Given the description of an element on the screen output the (x, y) to click on. 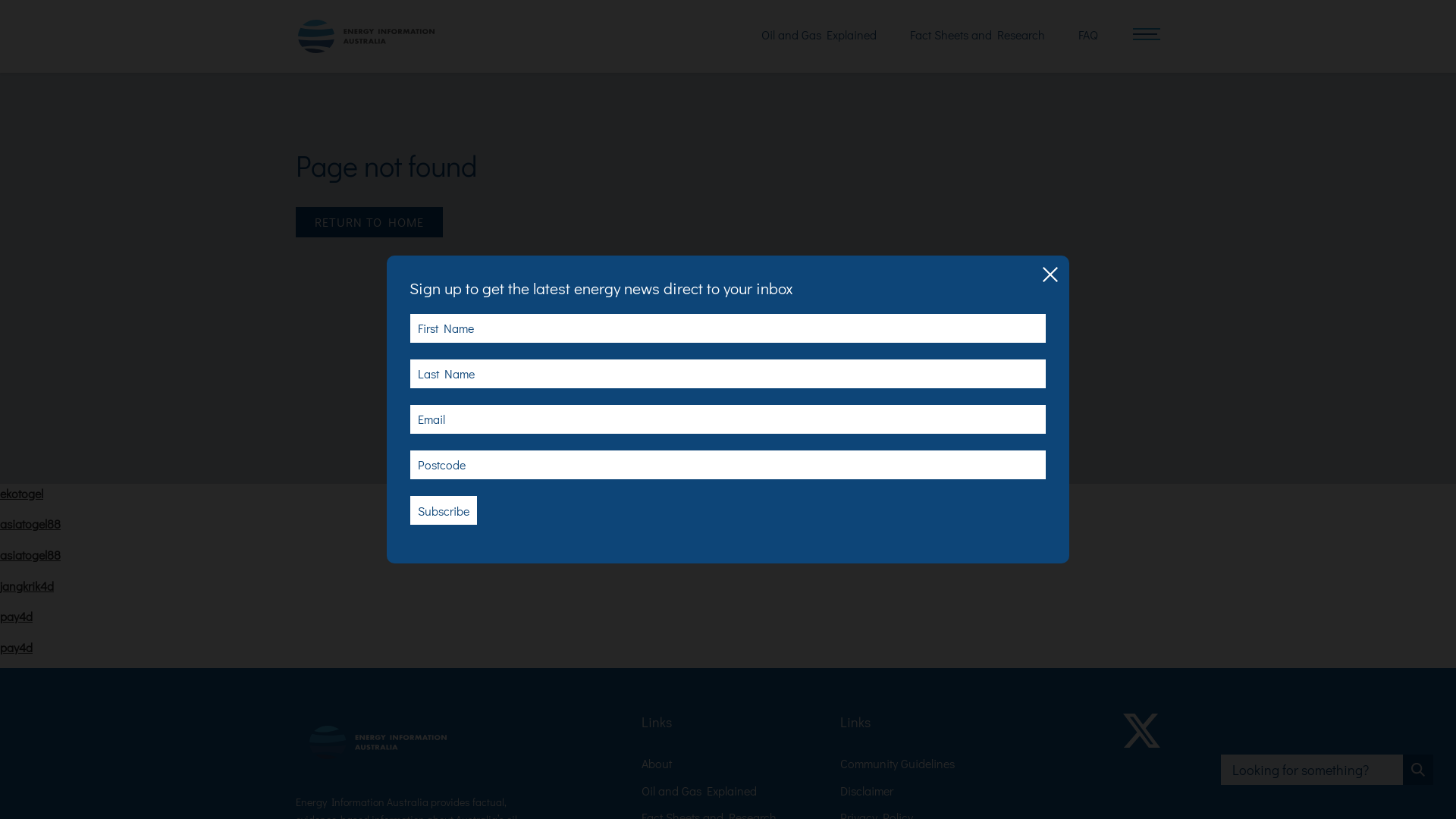
asiatogel88 Element type: text (30, 554)
Community Guidelines Element type: text (897, 763)
RETURN TO HOME Element type: text (368, 222)
jangkrik4d Element type: text (26, 585)
About Element type: text (656, 763)
Disclaimer Element type: text (866, 790)
Subscribe Element type: text (443, 510)
pay4d Element type: text (16, 647)
Fact Sheets and Research Element type: text (977, 34)
ekotogel Element type: text (21, 493)
asiatogel88 Element type: text (30, 523)
Oil and Gas Explained Element type: text (698, 790)
Oil and Gas Explained Element type: text (818, 34)
pay4d Element type: text (16, 616)
FAQ Element type: text (1088, 34)
